Given the description of an element on the screen output the (x, y) to click on. 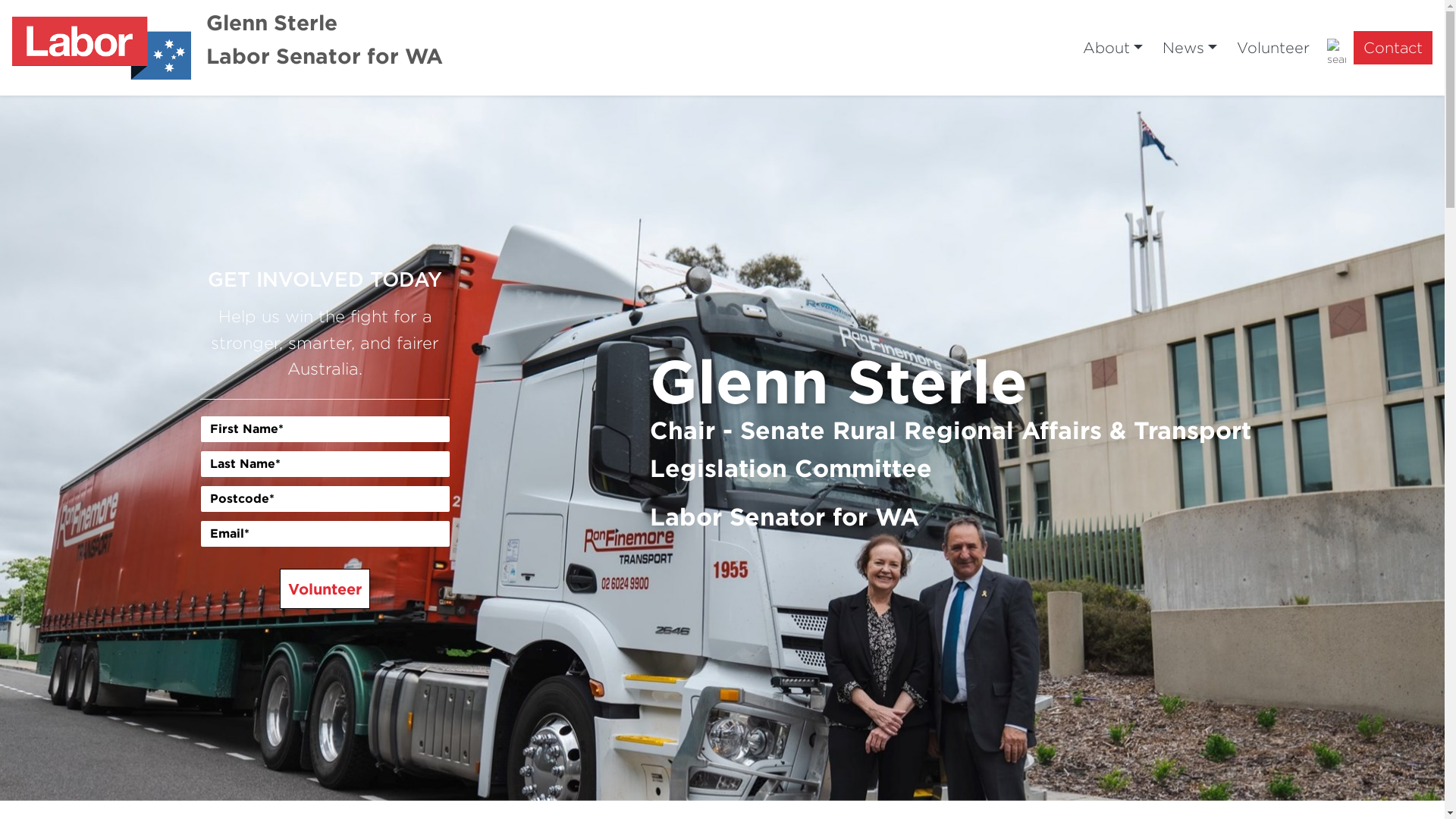
Next Element type: text (1335, 447)
About Element type: text (1112, 47)
Volunteer Element type: text (1272, 47)
News Element type: text (1189, 47)
Previous Element type: text (108, 447)
Contact Element type: text (1392, 47)
Volunteer Element type: text (324, 588)
